Given the description of an element on the screen output the (x, y) to click on. 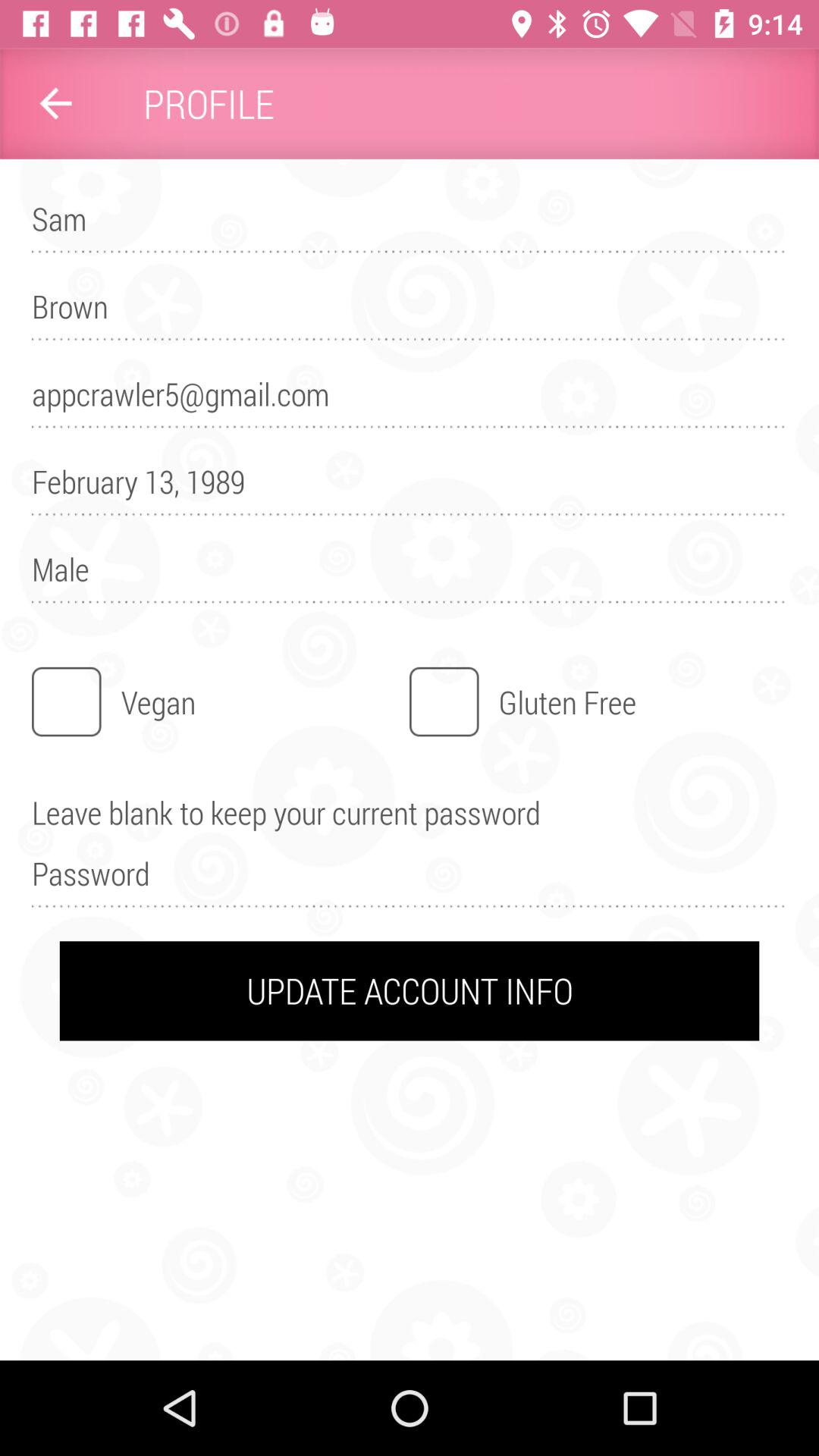
open february 13, 1989 item (409, 488)
